Given the description of an element on the screen output the (x, y) to click on. 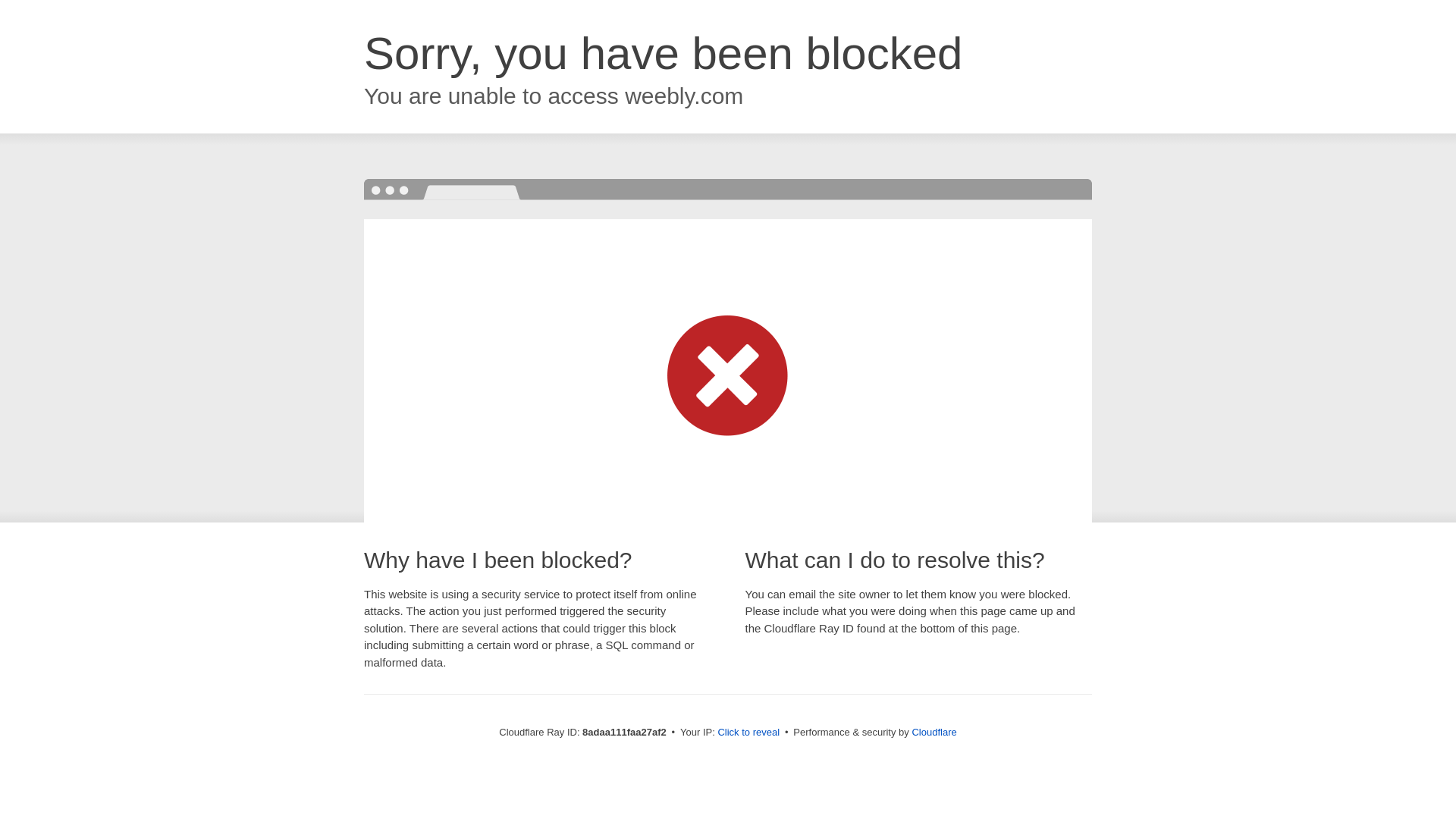
Click to reveal (747, 732)
Cloudflare (933, 731)
